Given the description of an element on the screen output the (x, y) to click on. 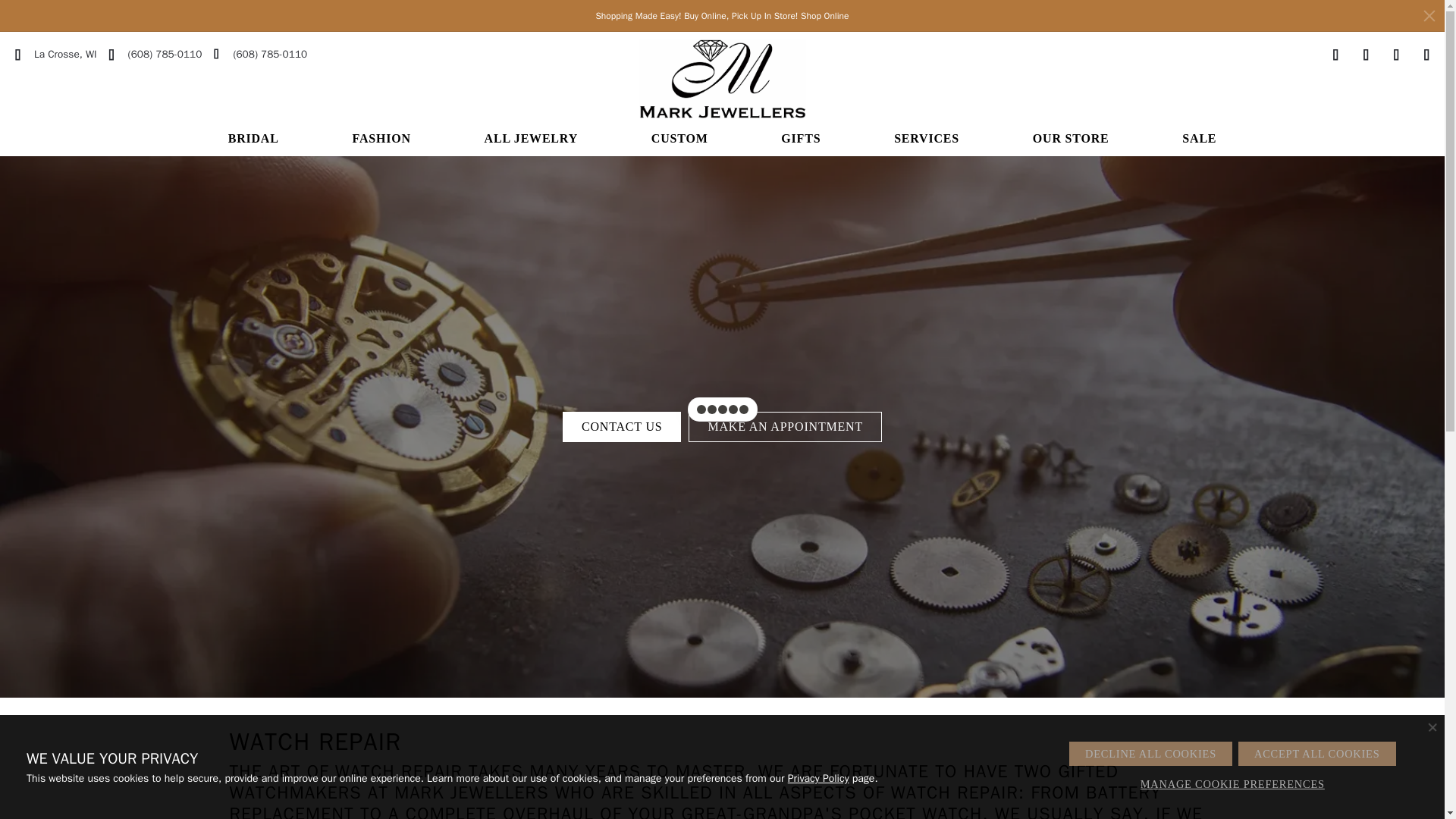
BRIDAL (253, 141)
Skip to main content (7, 3)
Shop Online (55, 54)
